Given the description of an element on the screen output the (x, y) to click on. 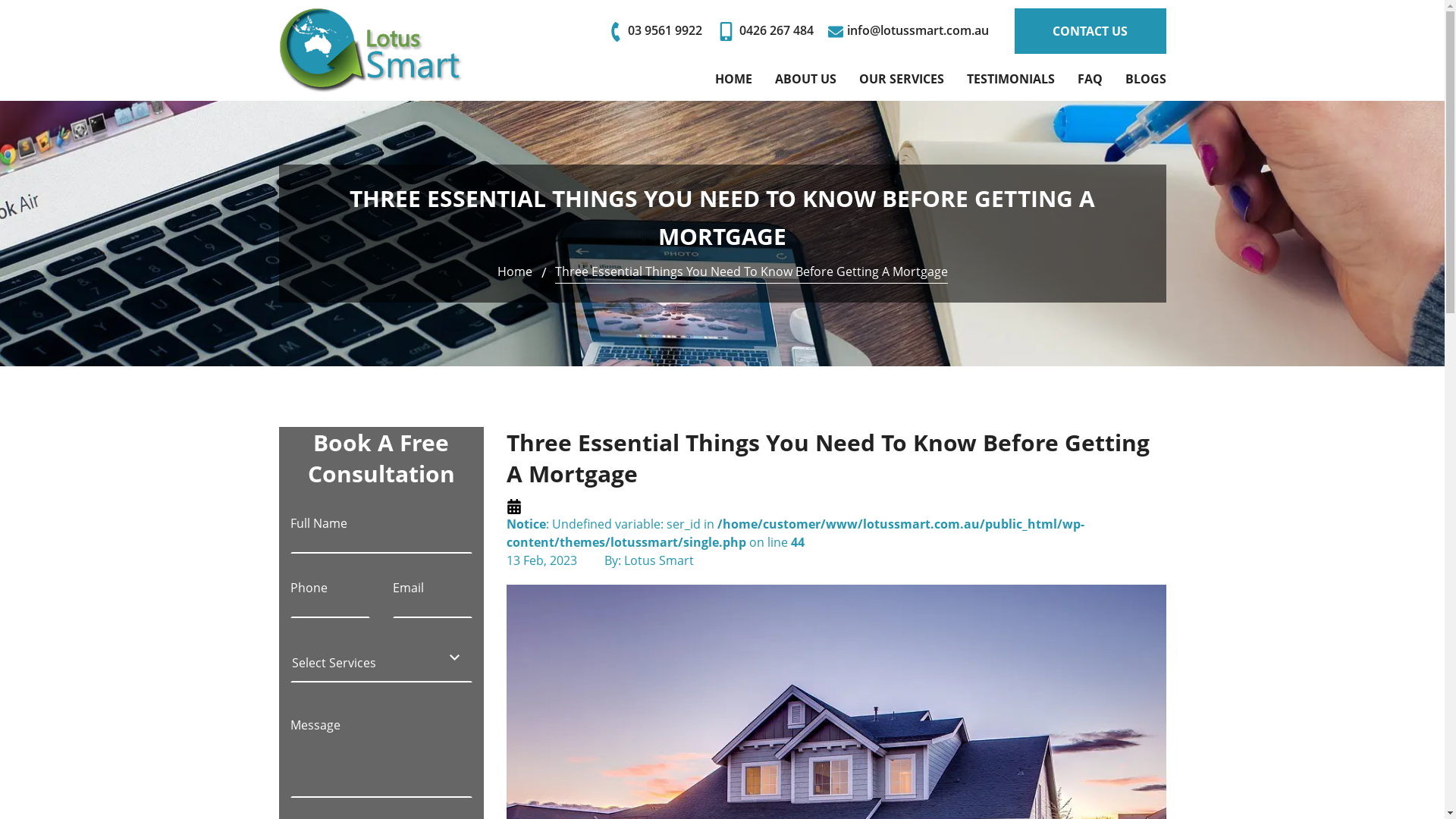
HOME Element type: text (732, 78)
Lotus Smart Element type: hover (370, 50)
info@lotussmart.com.au Element type: text (908, 29)
CONTACT US Element type: text (1090, 30)
Home Element type: text (514, 271)
03 9561 9922 Element type: text (654, 29)
TESTIMONIALS Element type: text (1010, 78)
FAQ Element type: text (1088, 78)
BLOGS Element type: text (1145, 78)
0426 267 484 Element type: text (763, 29)
OUR SERVICES Element type: text (900, 78)
ABOUT US Element type: text (805, 78)
